Given the description of an element on the screen output the (x, y) to click on. 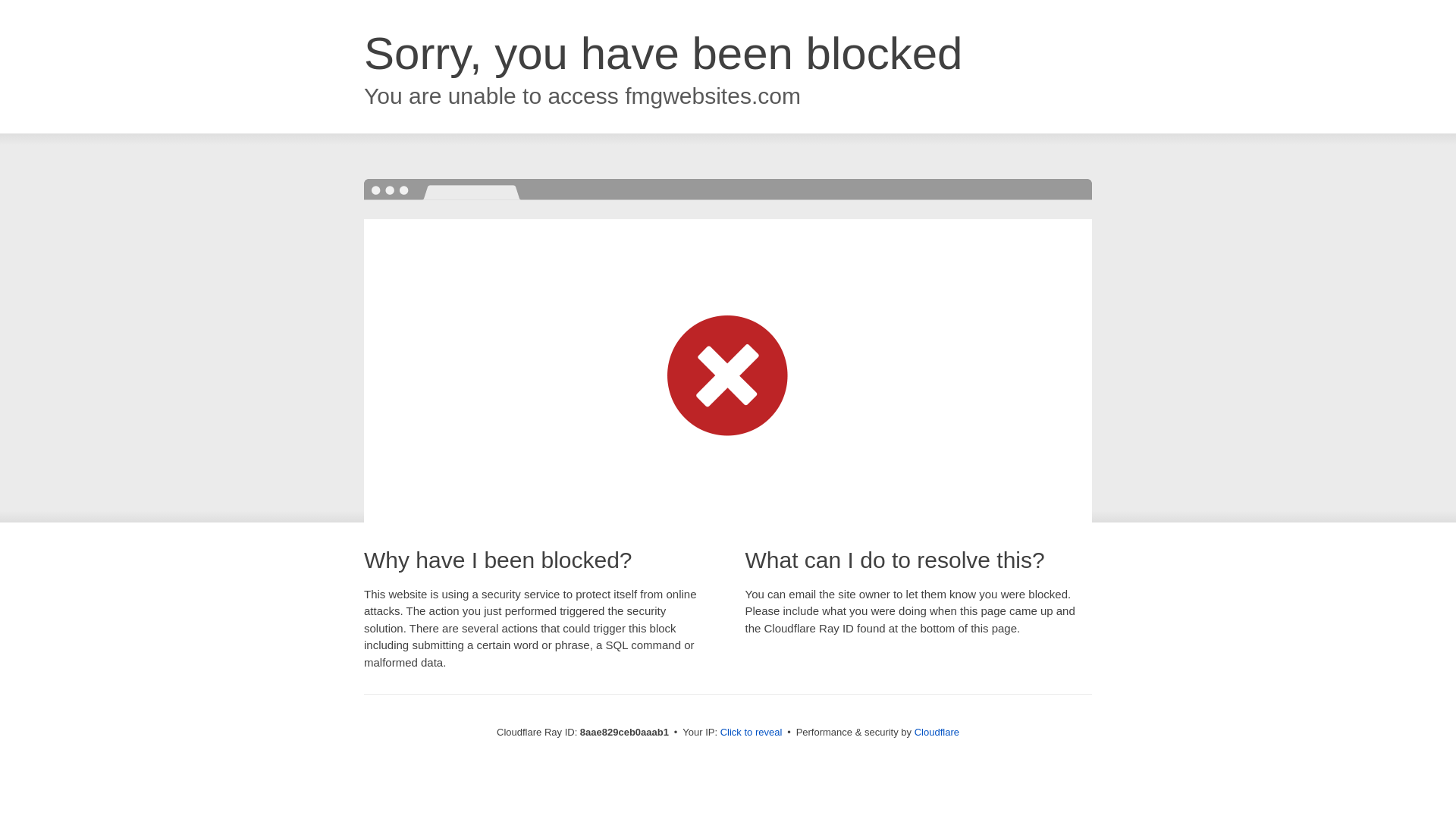
Click to reveal (751, 732)
Cloudflare (936, 731)
